Given the description of an element on the screen output the (x, y) to click on. 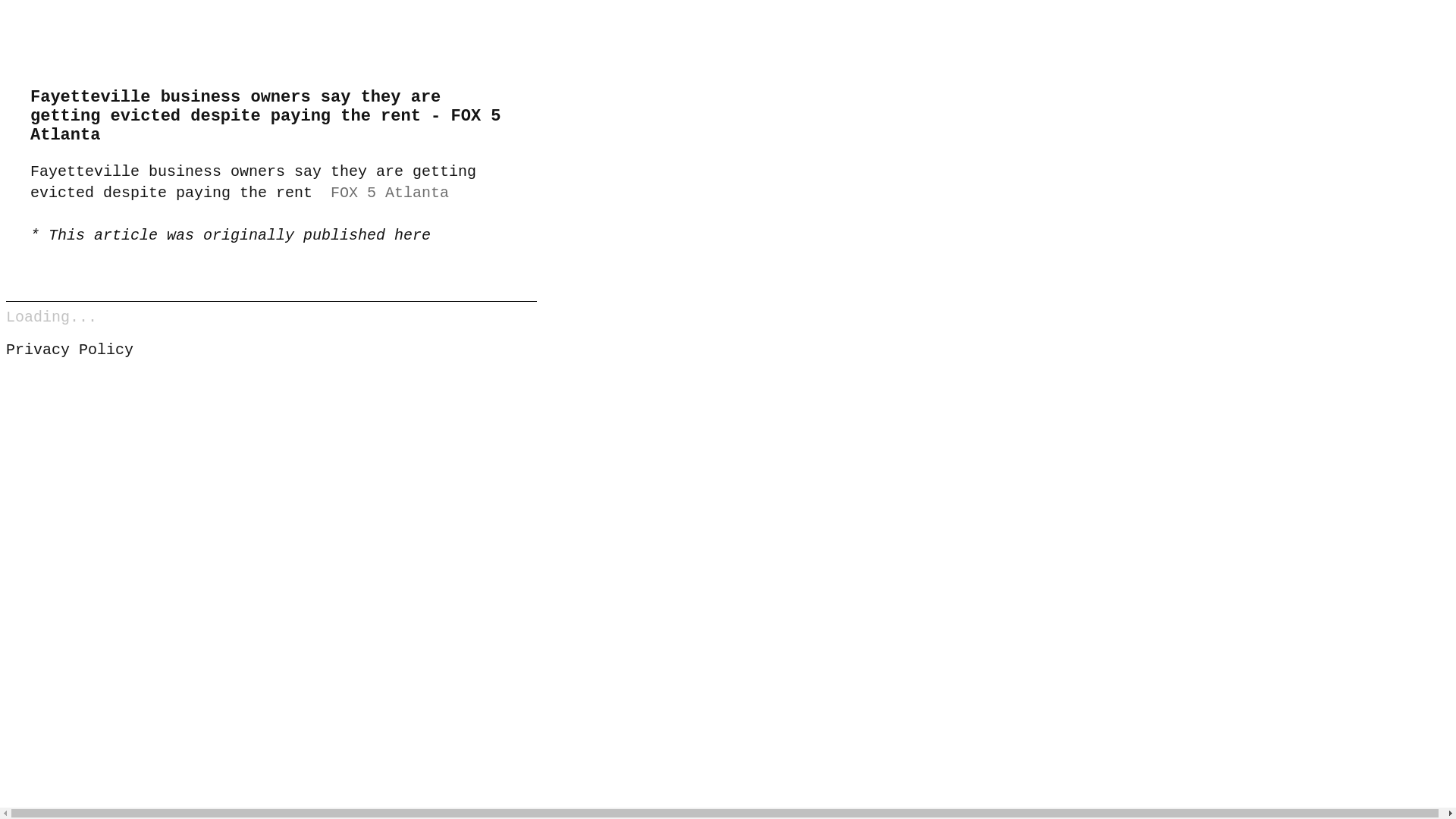
* This article was originally published here Element type: text (230, 235)
Loading... Element type: text (51, 317)
Advertisement Element type: hover (271, 479)
Privacy Policy Element type: text (69, 349)
